Given the description of an element on the screen output the (x, y) to click on. 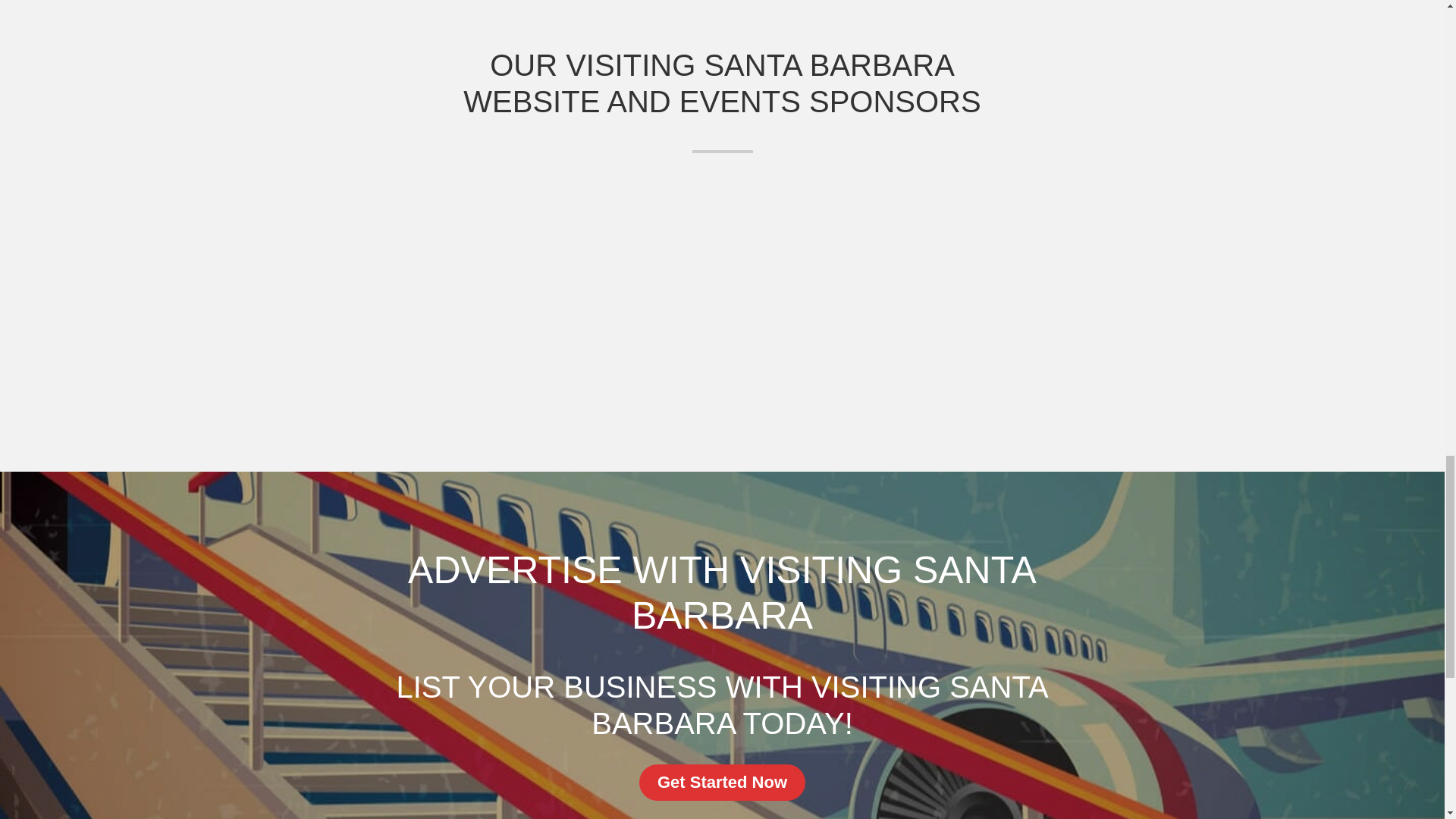
Get Started Now (722, 782)
